Given the description of an element on the screen output the (x, y) to click on. 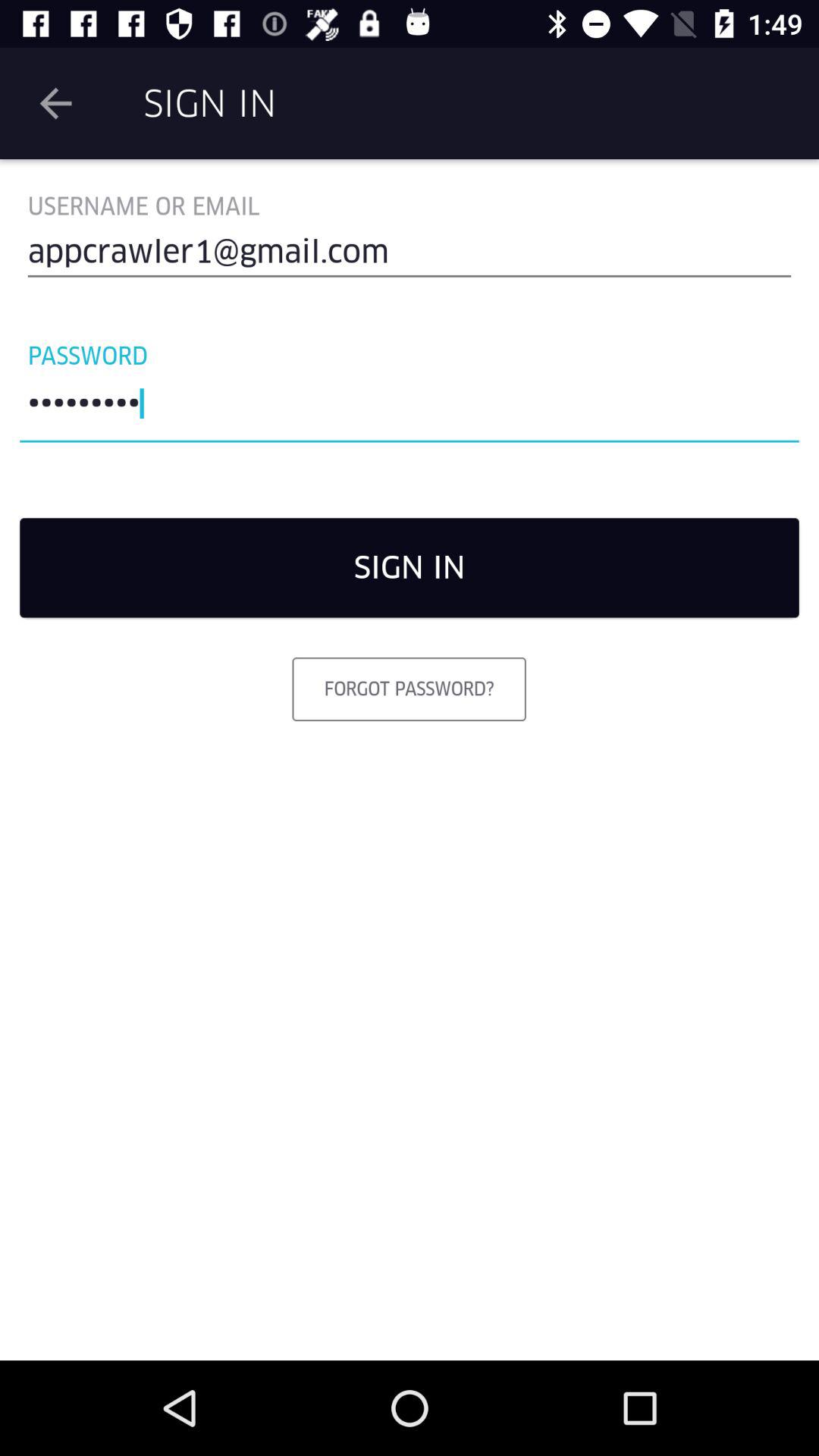
open icon above the password item (409, 257)
